Given the description of an element on the screen output the (x, y) to click on. 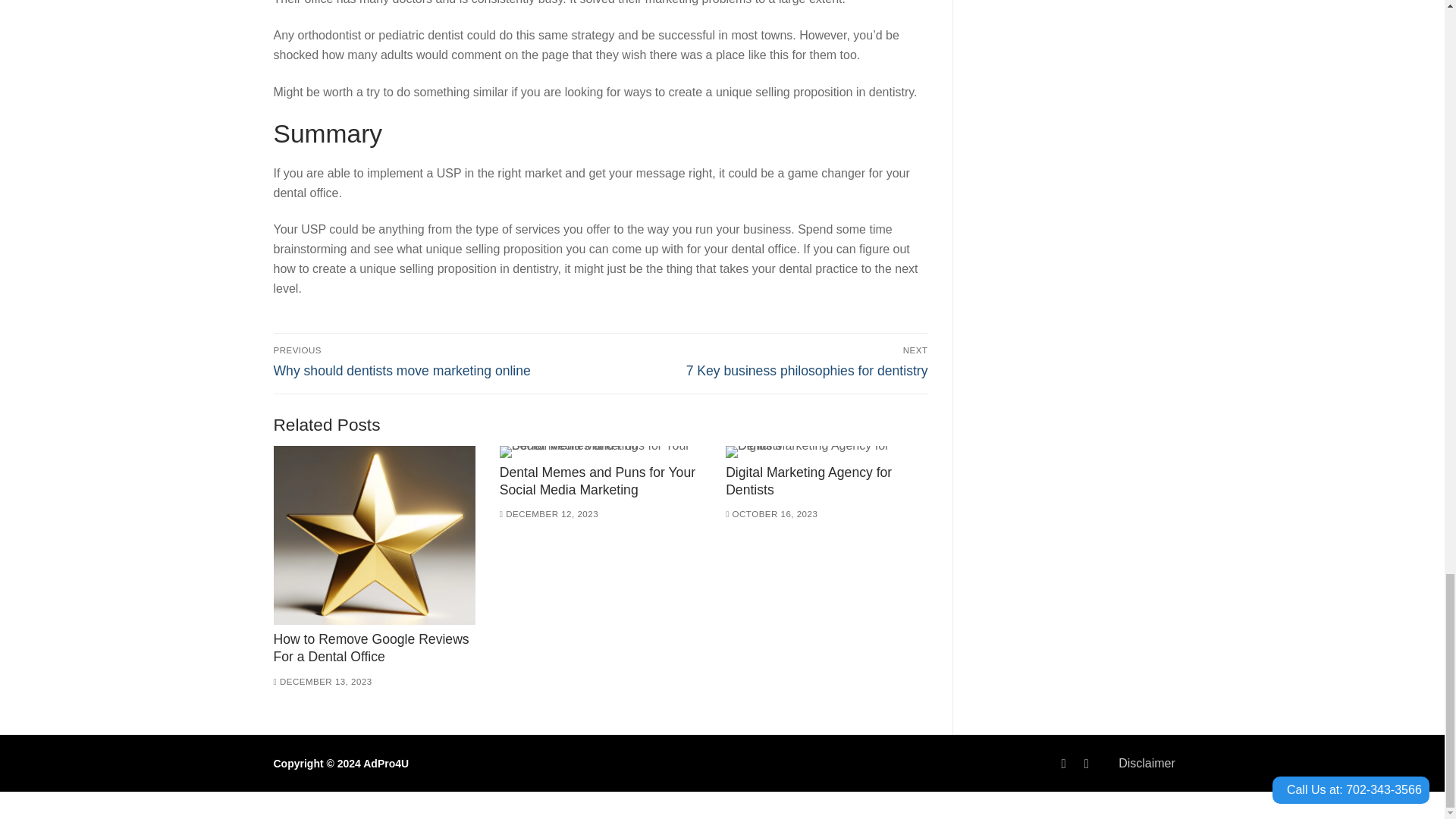
DECEMBER 13, 2023 (322, 681)
Digital Marketing Agency for Dentists (826, 451)
How to Remove Google Reviews For a Dental Office (370, 647)
Dental Memes and Puns for Your Social Media Marketing (597, 481)
Digital Marketing Agency for Dentists (767, 361)
How to Remove Google Reviews For a Dental Office (808, 481)
Dental Memes and Puns for Your Social Media Marketing (373, 534)
Facebook (600, 451)
How to Remove Google Reviews For a Dental Office (1063, 763)
